Given the description of an element on the screen output the (x, y) to click on. 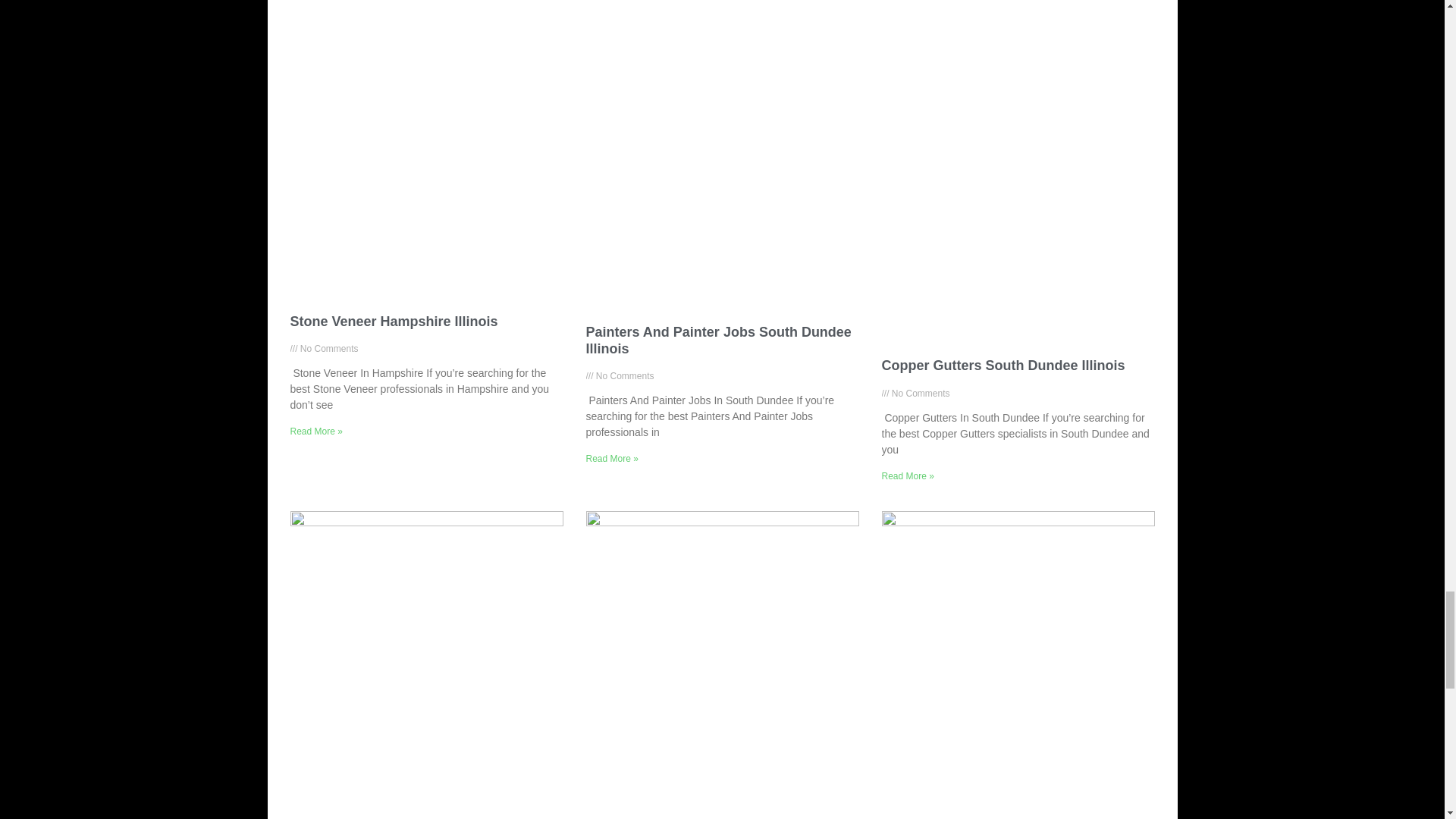
Copper Gutters South Dundee Illinois (1002, 365)
Painters And Painter Jobs South Dundee Illinois (717, 340)
Stone Veneer Hampshire Illinois (393, 321)
